Given the description of an element on the screen output the (x, y) to click on. 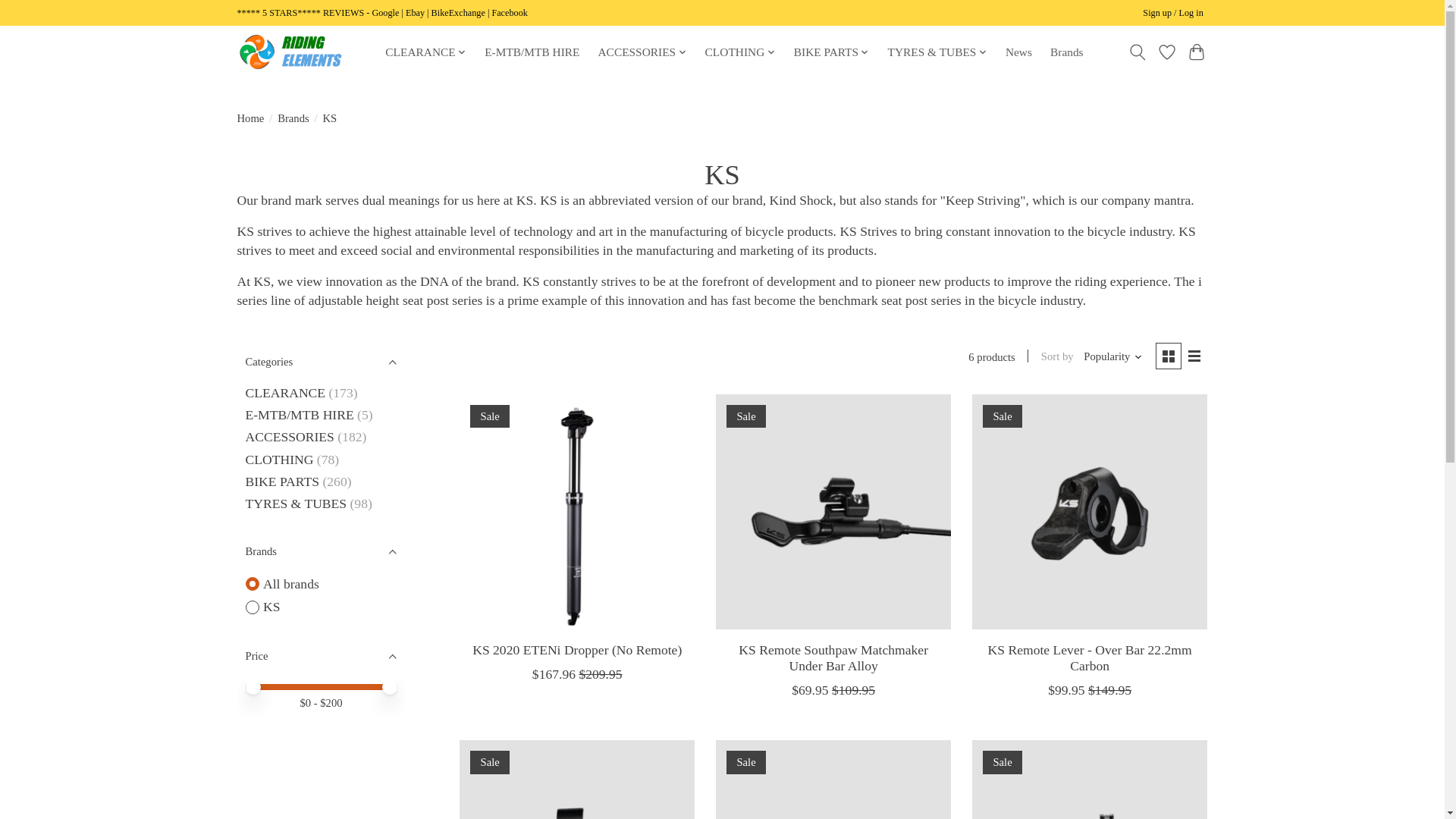
200 (321, 684)
KS KS Remote Southpaw Matchmaker Under Bar Alloy (833, 511)
CLEARANCE (425, 52)
KS KS Remote Southpaw Under Bar 22.2mm Carbon (1089, 779)
My account (1173, 13)
ACCESSORIES (641, 52)
KS KS Remote Lever - Over Bar 22.2mm Carbon (1089, 511)
KS KS Remote Southpaw Reverse i-Spec II Under Bar Alloy (577, 779)
KS KS Remote Southpaw Reverse i-Spec EV Under Bar Alloy (833, 779)
0 (321, 684)
